Given the description of an element on the screen output the (x, y) to click on. 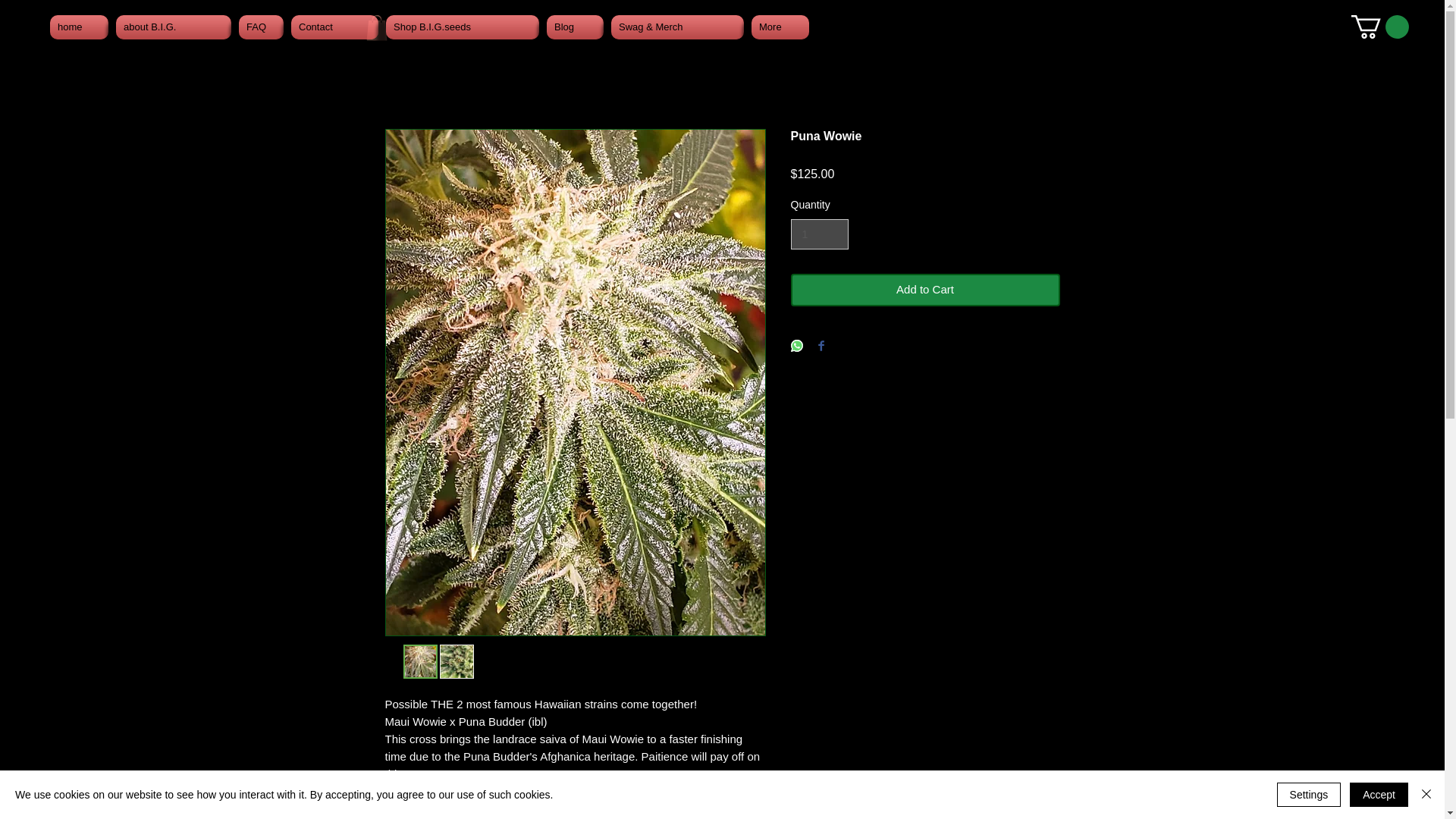
1 (818, 234)
FAQ (260, 27)
Add to Cart (924, 289)
home (80, 27)
Shop B.I.G.seeds (462, 27)
Settings (1308, 794)
Contact (333, 27)
Accept (1378, 794)
Blog (575, 27)
